Given the description of an element on the screen output the (x, y) to click on. 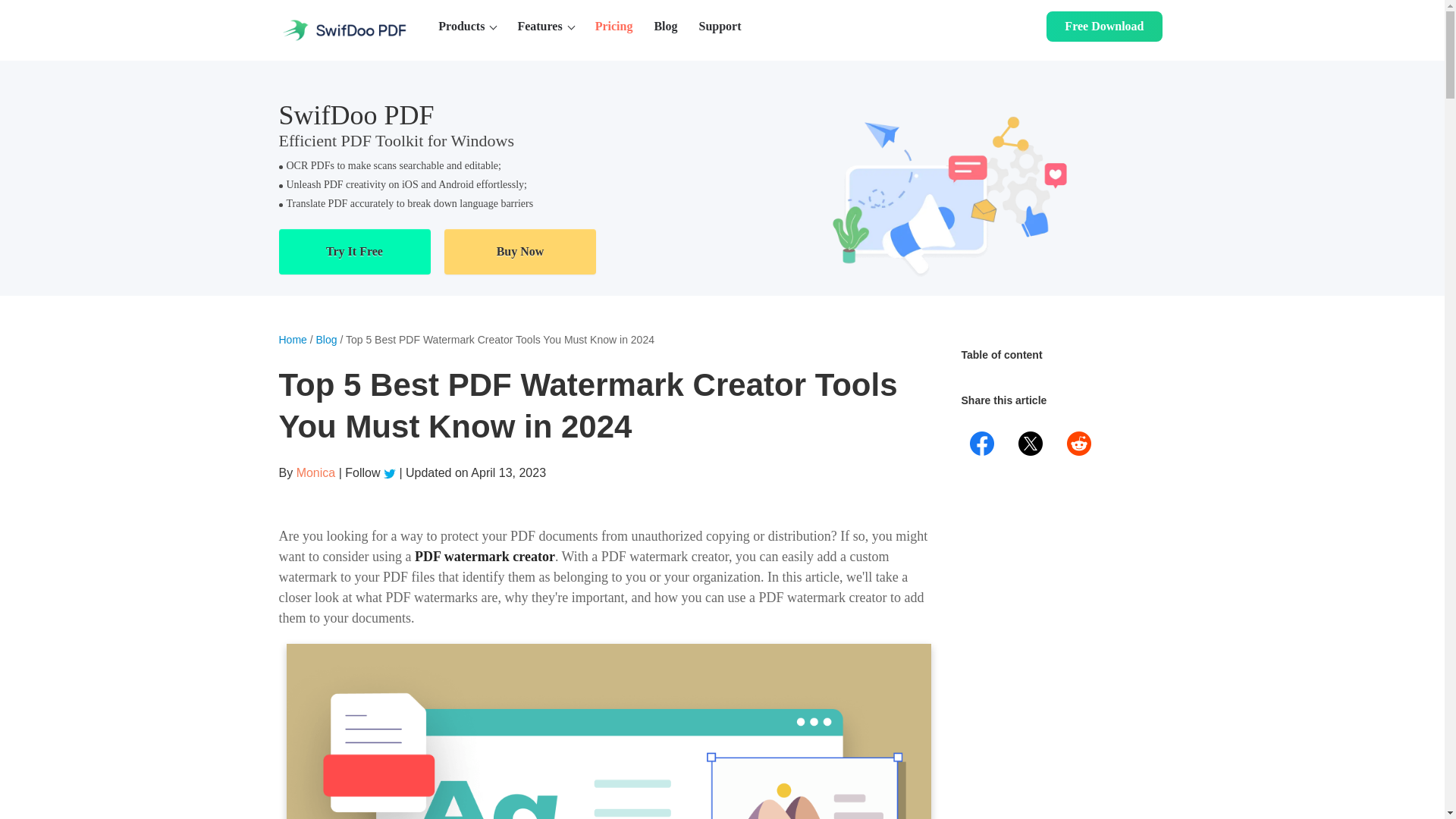
Support (720, 26)
Features (544, 26)
Products (467, 26)
Pricing (614, 26)
Free Download (1103, 26)
Blog (665, 26)
Twitter (391, 472)
